Given the description of an element on the screen output the (x, y) to click on. 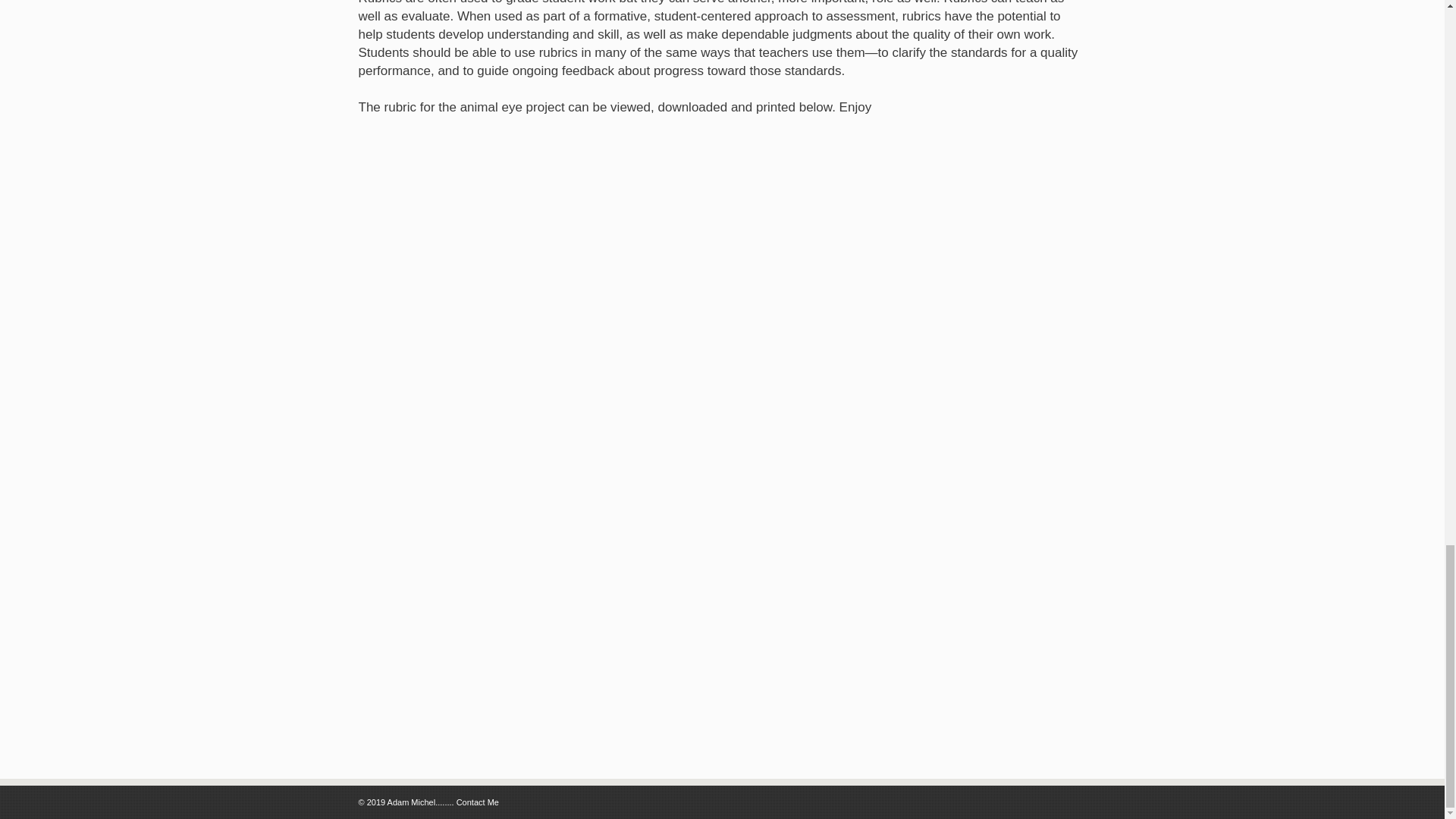
Contact Me (478, 801)
